Given the description of an element on the screen output the (x, y) to click on. 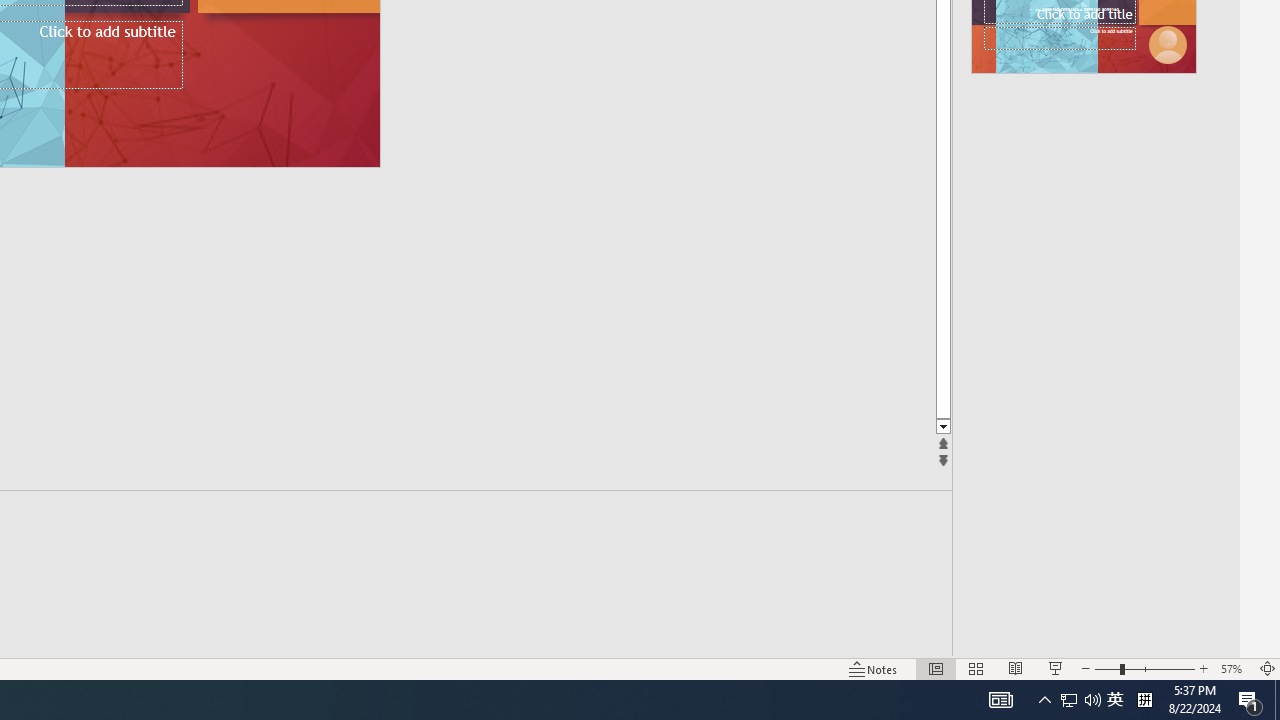
Zoom 57% (1234, 668)
